Given the description of an element on the screen output the (x, y) to click on. 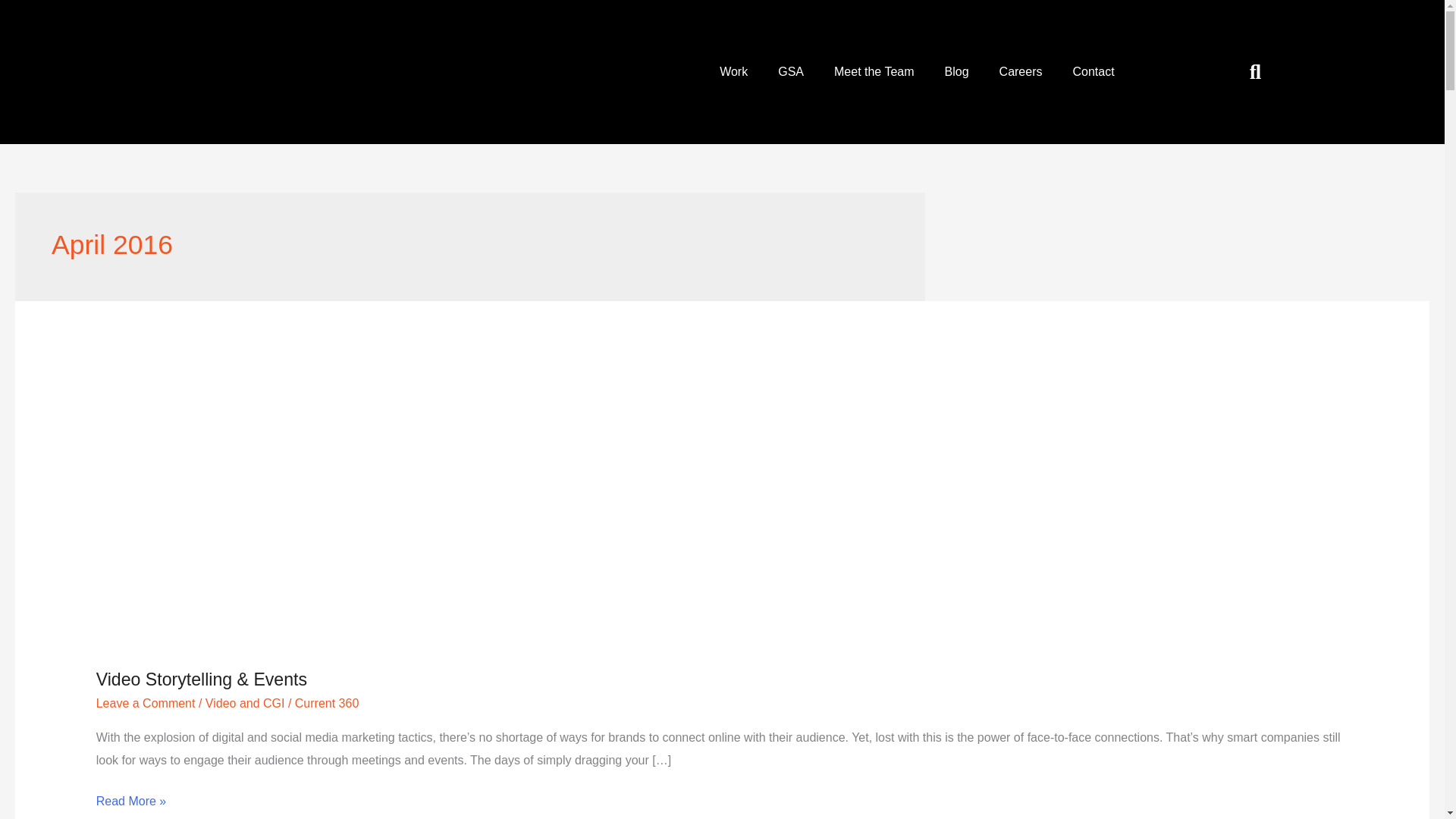
Careers (1021, 71)
GSA (790, 71)
Video and CGI (245, 703)
Current 360 (327, 703)
Leave a Comment (145, 703)
Work (733, 71)
Contact (1093, 71)
Blog (957, 71)
View all posts by Current 360 (327, 703)
Meet the Team (874, 71)
